Given the description of an element on the screen output the (x, y) to click on. 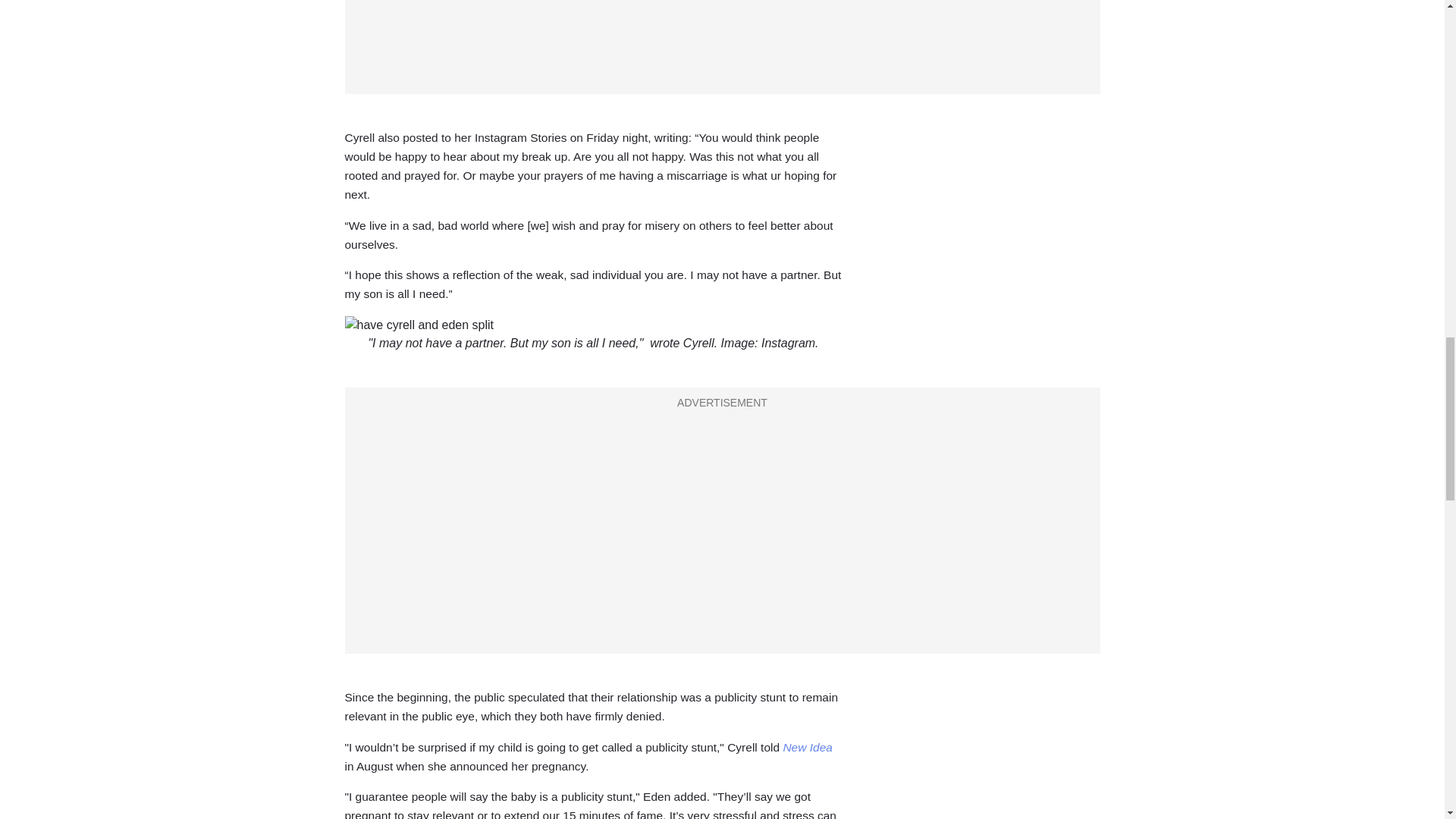
New Idea (807, 747)
